Given the description of an element on the screen output the (x, y) to click on. 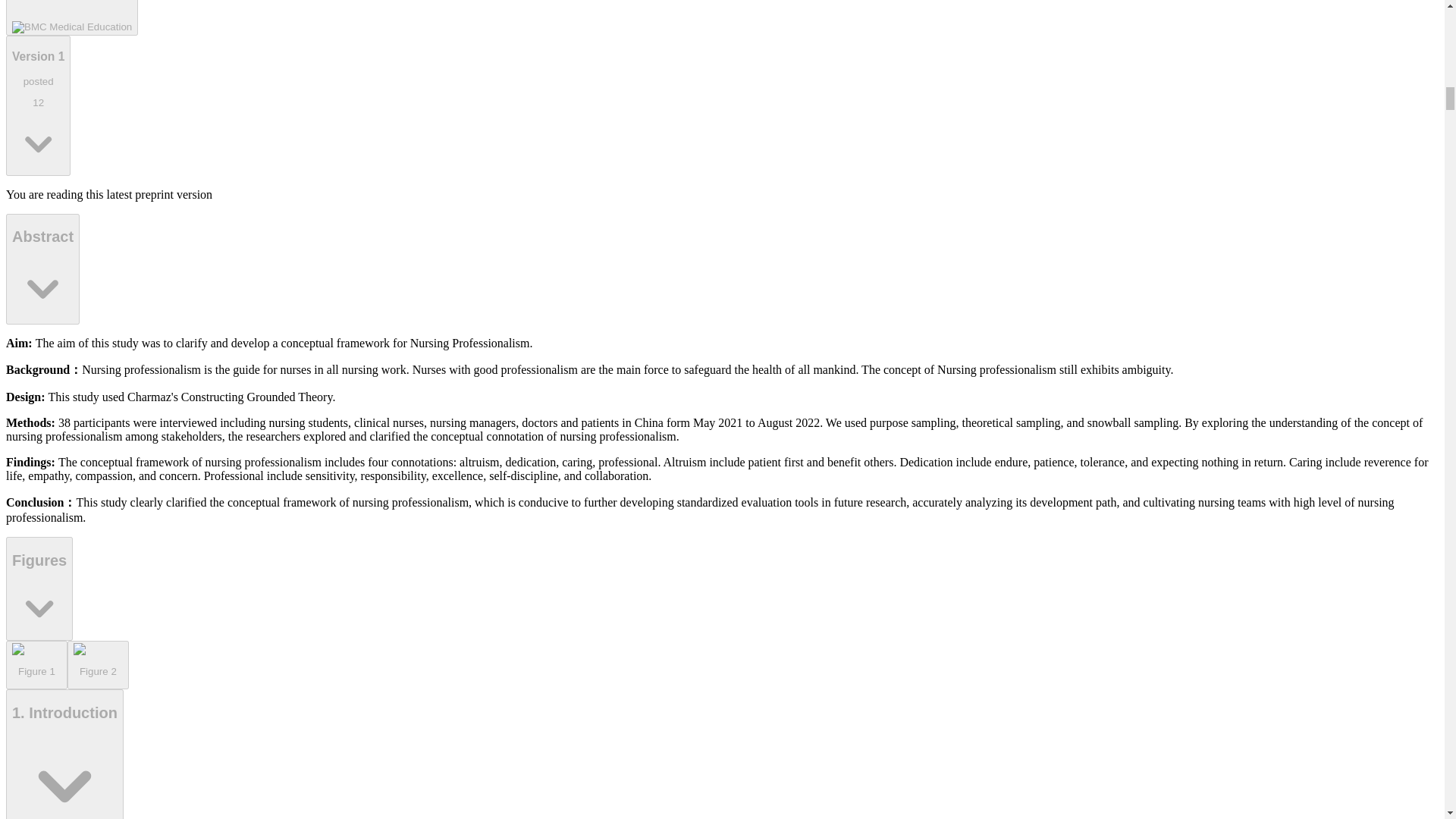
1. Introduction (64, 754)
Figure 1 (71, 18)
Figure 2 (35, 664)
